Given the description of an element on the screen output the (x, y) to click on. 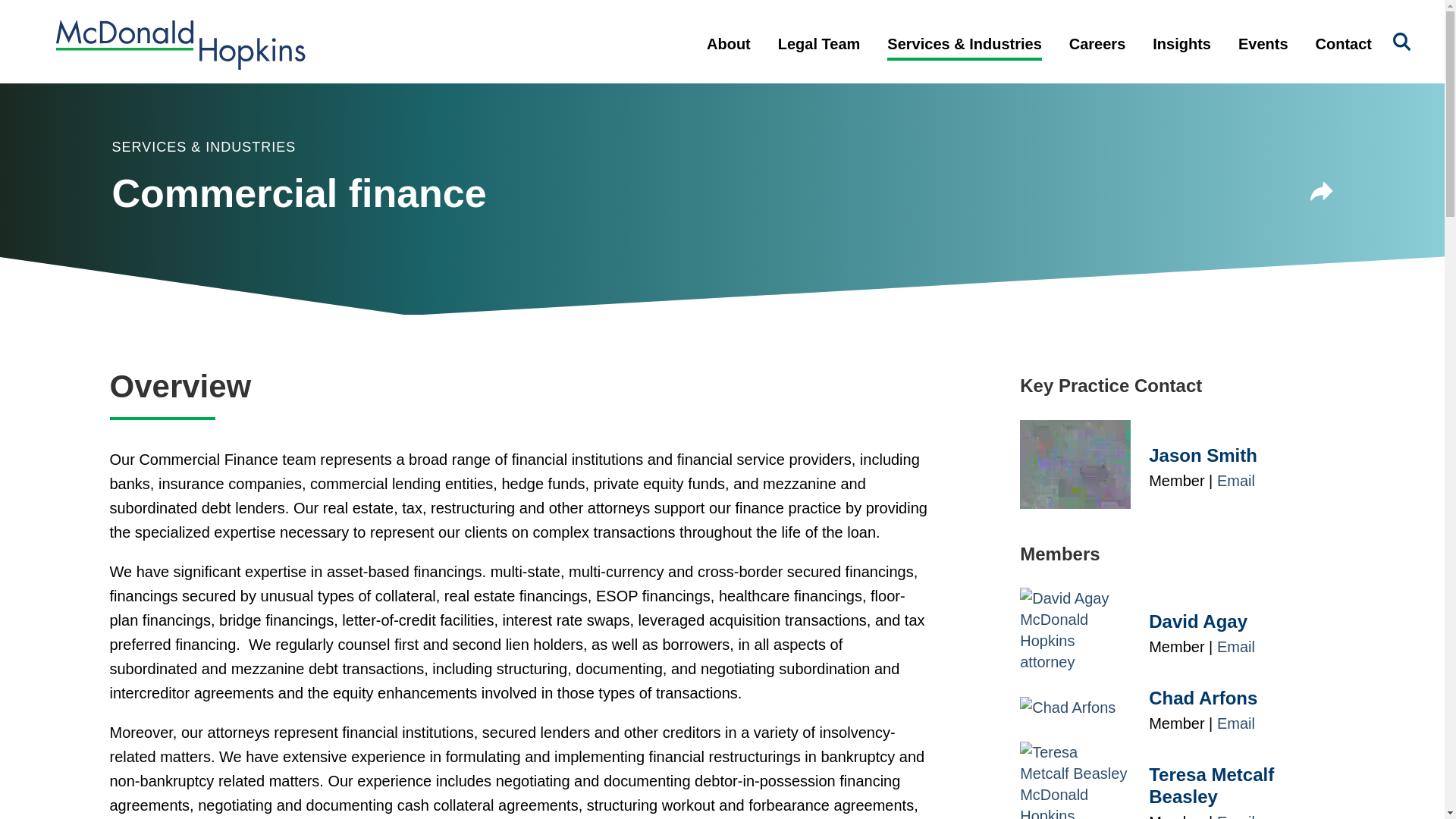
Contact (1343, 55)
Legal Team (819, 55)
About (728, 55)
Insights (1181, 55)
Main Content (666, 20)
Menu (673, 20)
Search (1401, 41)
Main Menu (673, 20)
Events (1262, 55)
Share (1321, 194)
Share (1321, 190)
Share (1321, 194)
Careers (1097, 55)
